Given the description of an element on the screen output the (x, y) to click on. 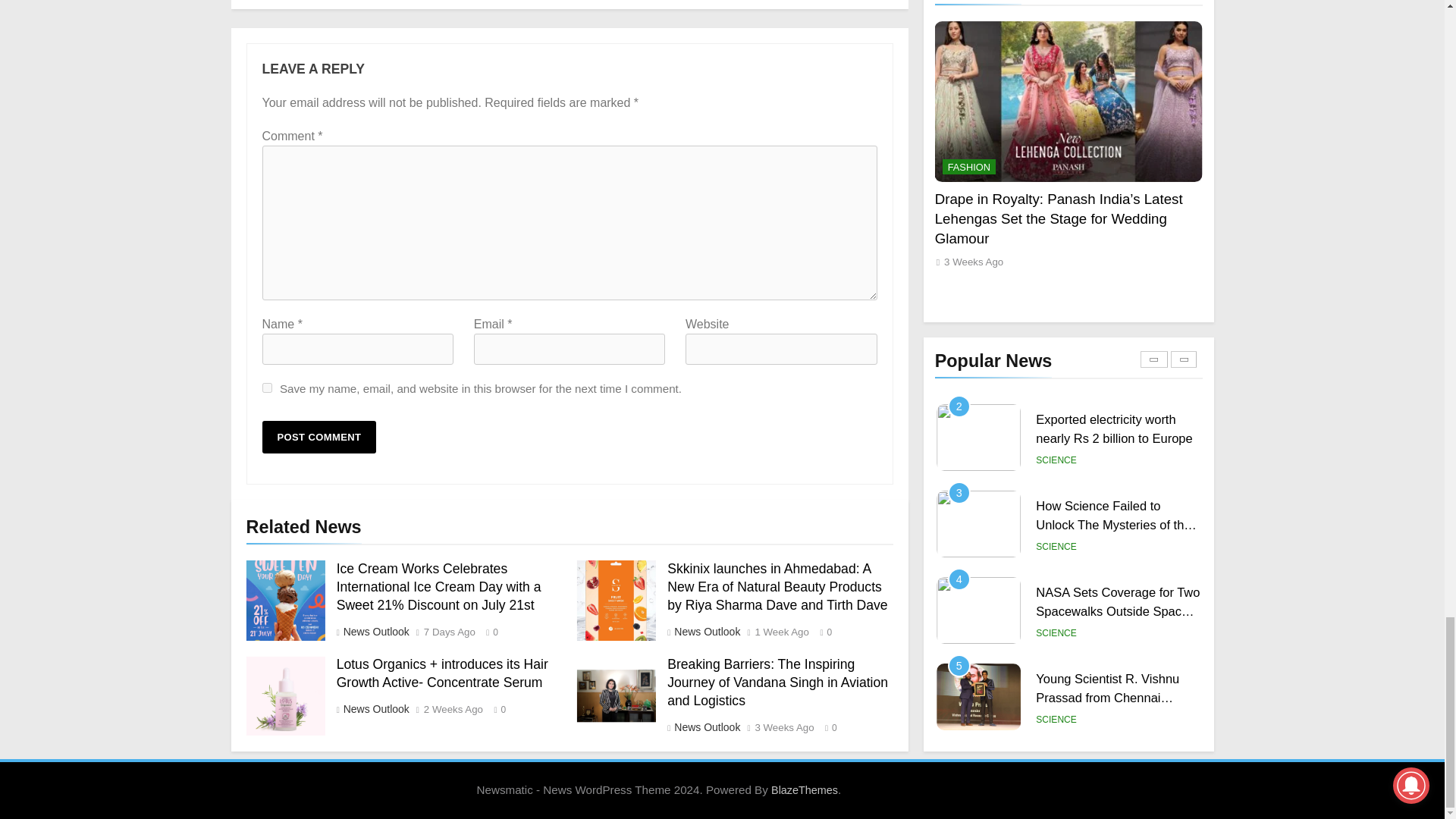
Post Comment (319, 436)
yes (267, 388)
